Given the description of an element on the screen output the (x, y) to click on. 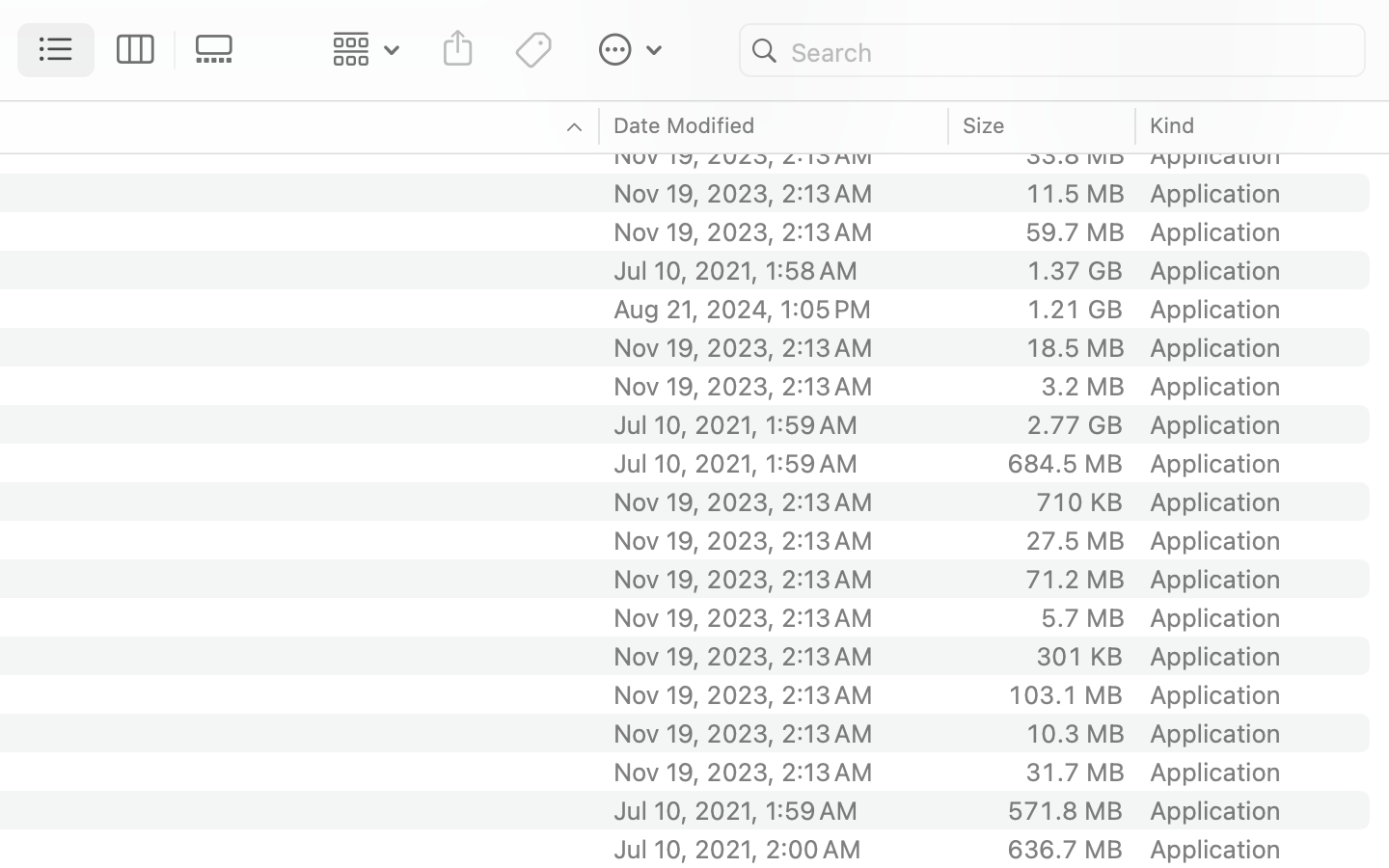
59.7 MB Element type: AXStaticText (1074, 231)
684.5 MB Element type: AXStaticText (1064, 462)
Jul 10, 2021, 1:58 AM Element type: AXStaticText (774, 269)
Kind Element type: AXStaticText (1172, 124)
1 Element type: AXRadioButton (56, 49)
